Given the description of an element on the screen output the (x, y) to click on. 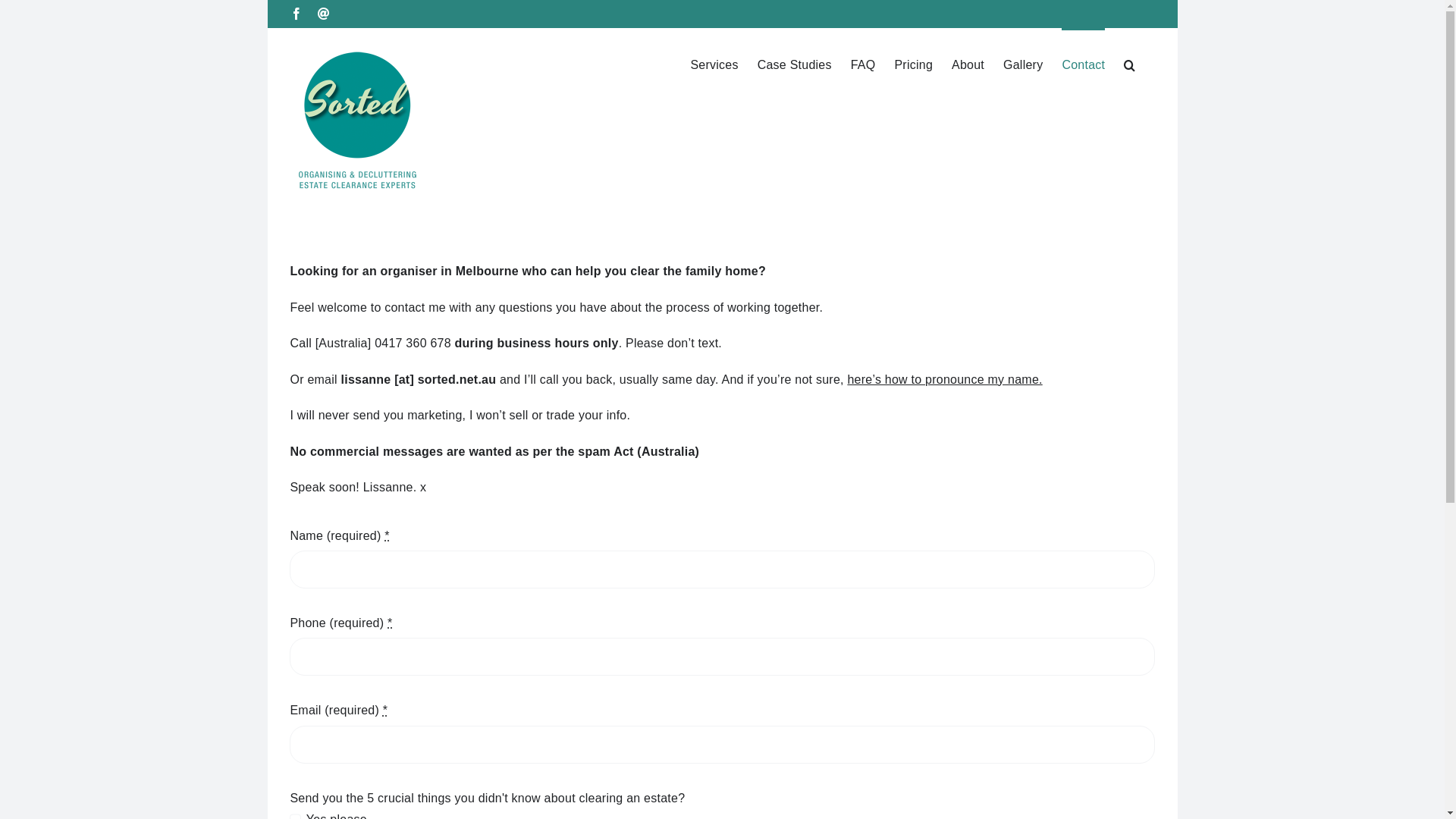
Email Element type: text (323, 13)
Pricing Element type: text (913, 63)
About Element type: text (967, 63)
Search Element type: hover (1129, 63)
Gallery Element type: text (1022, 63)
Case Studies Element type: text (794, 63)
Contact Element type: text (1082, 63)
Services Element type: text (713, 63)
Facebook Element type: text (295, 13)
FAQ Element type: text (862, 63)
